Given the description of an element on the screen output the (x, y) to click on. 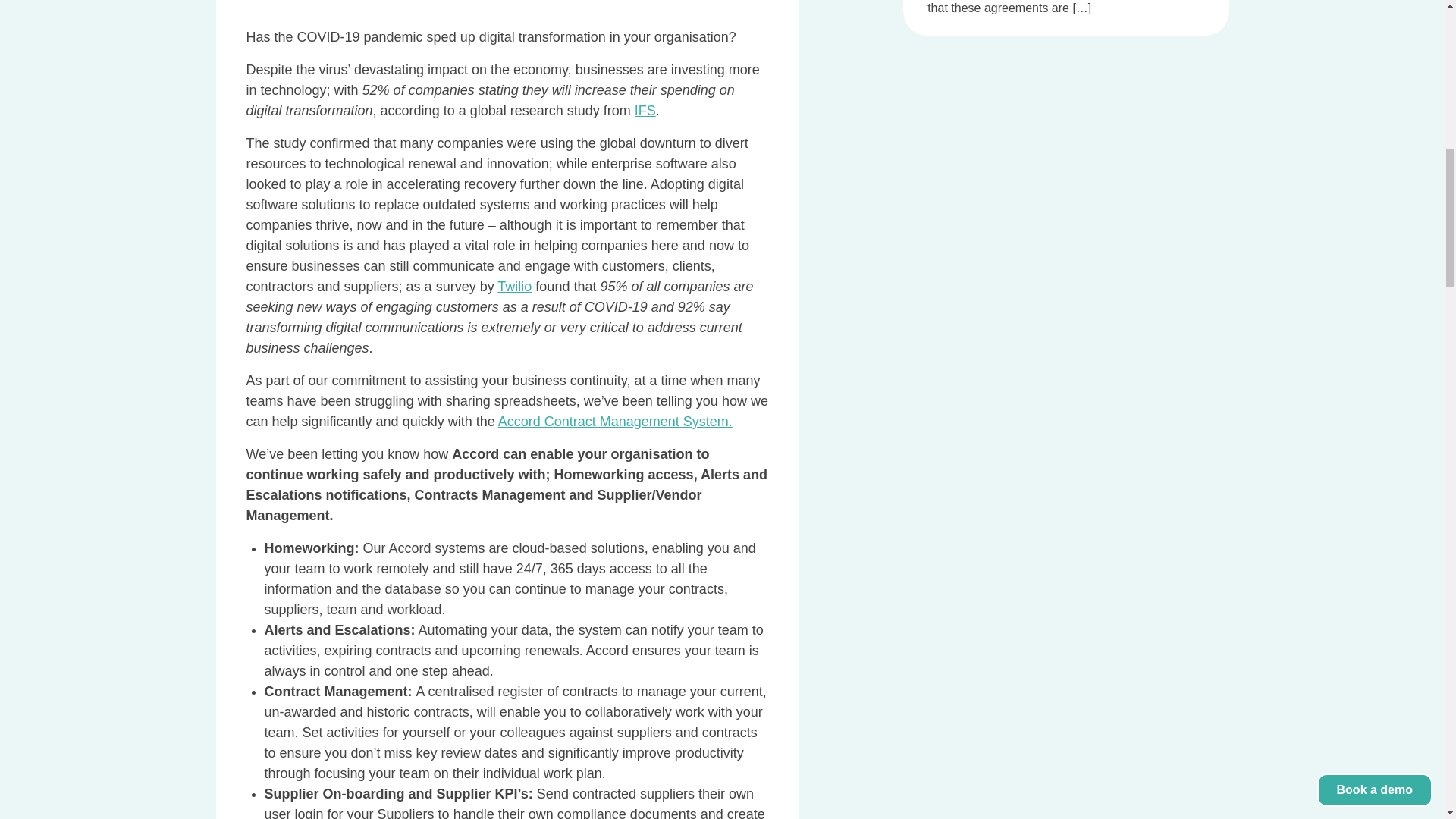
Twilio (514, 286)
Accord Contract Management System. (614, 421)
IFS (645, 110)
